Given the description of an element on the screen output the (x, y) to click on. 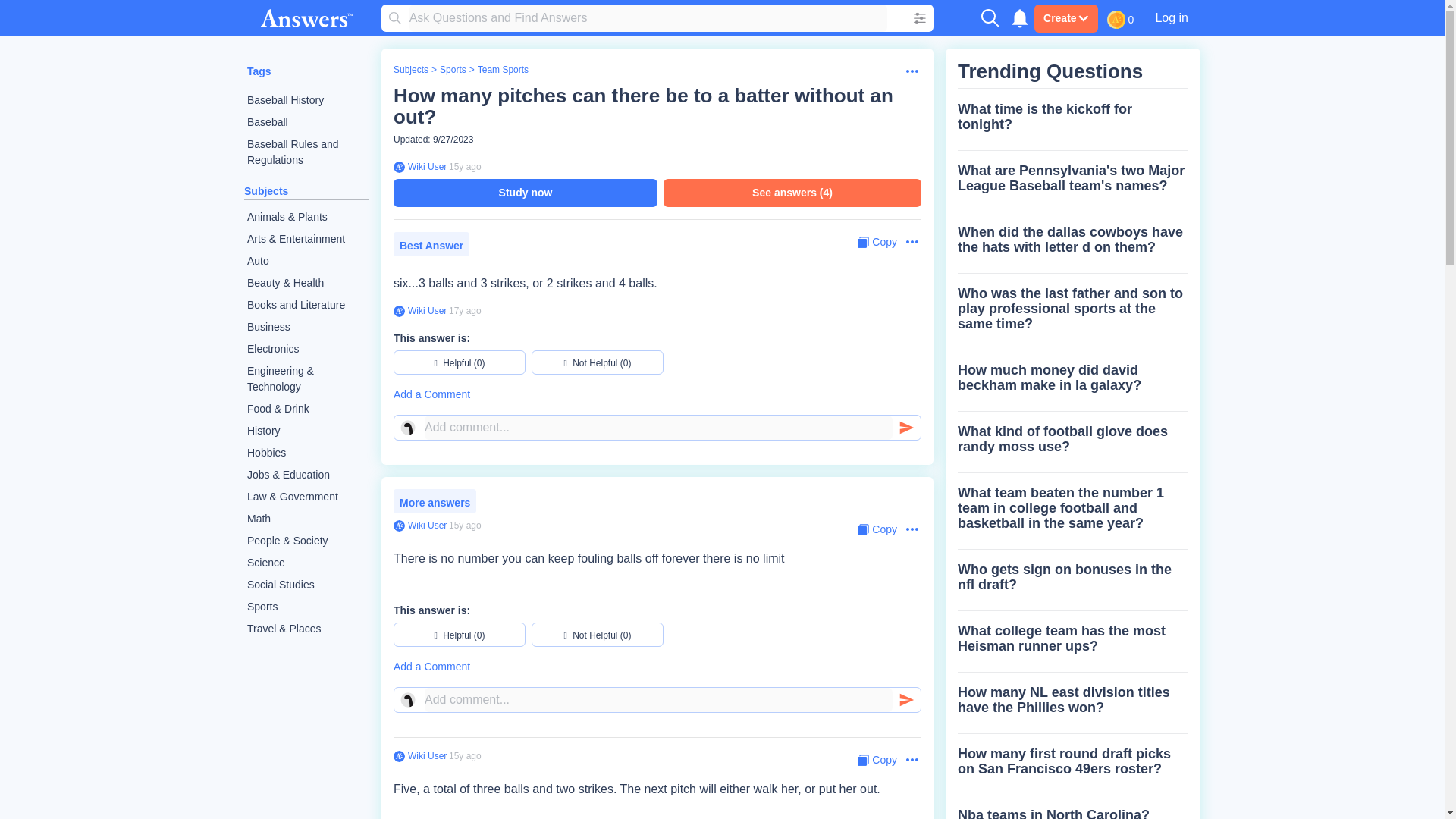
Auto (306, 260)
Copy (876, 242)
Math (306, 518)
Create (1065, 18)
Study now (525, 193)
Sports (452, 69)
Baseball History (306, 100)
2009-04-28 16:30:47 (464, 166)
Team Sports (502, 69)
Add a Comment (657, 394)
Baseball Rules and Regulations (306, 152)
Social Studies (306, 585)
Baseball (306, 122)
Log in (1170, 17)
Science (306, 563)
